Given the description of an element on the screen output the (x, y) to click on. 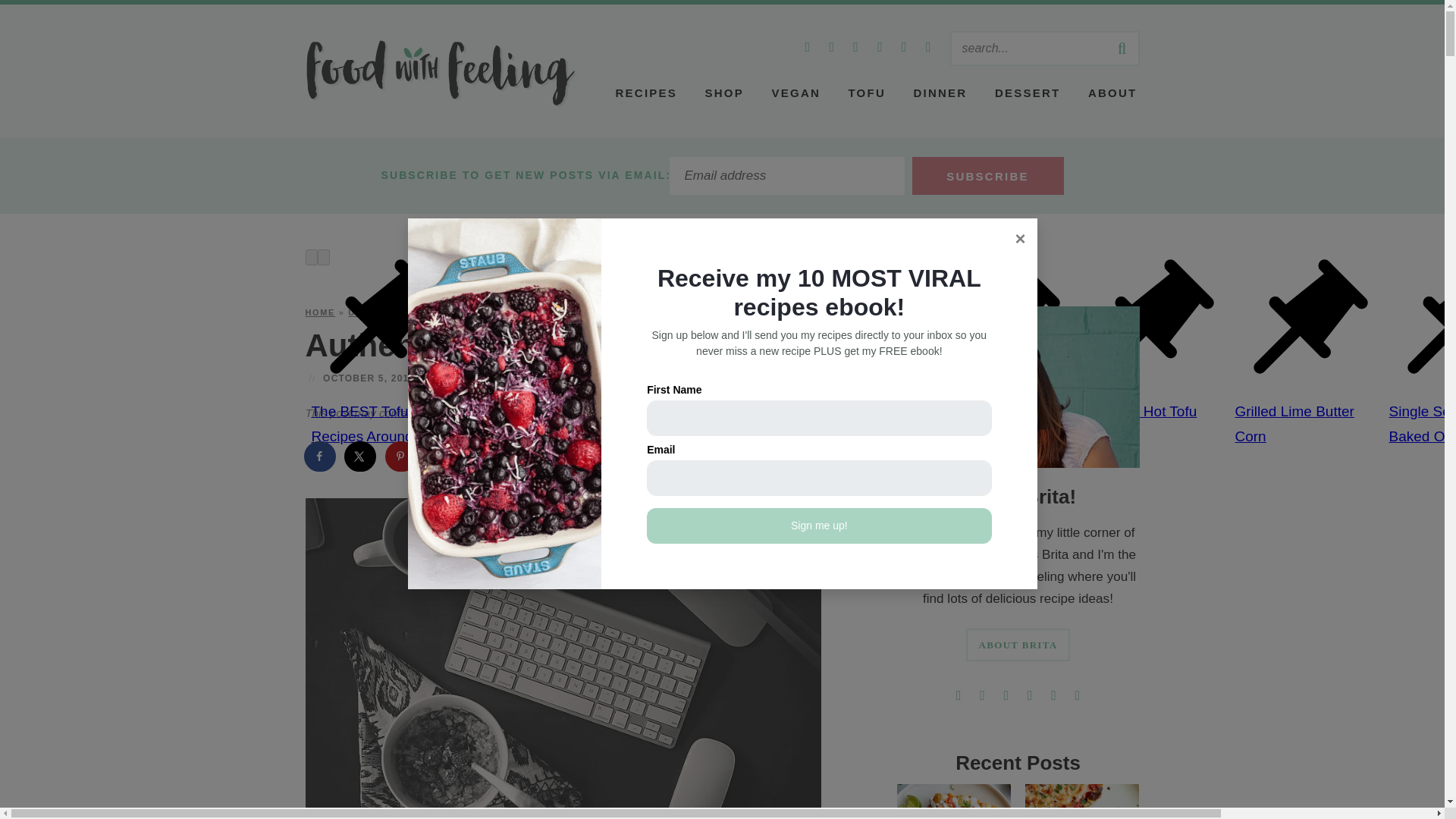
Pinterest (831, 46)
Instagram (879, 46)
YouTube (928, 46)
RECIPES (646, 93)
Save to Pinterest (401, 456)
TikTok (903, 46)
Search (1028, 48)
Facebook (855, 46)
Share on X (360, 456)
Food with Feeling (441, 72)
Share on Facebook (319, 456)
RSS (807, 46)
